Given the description of an element on the screen output the (x, y) to click on. 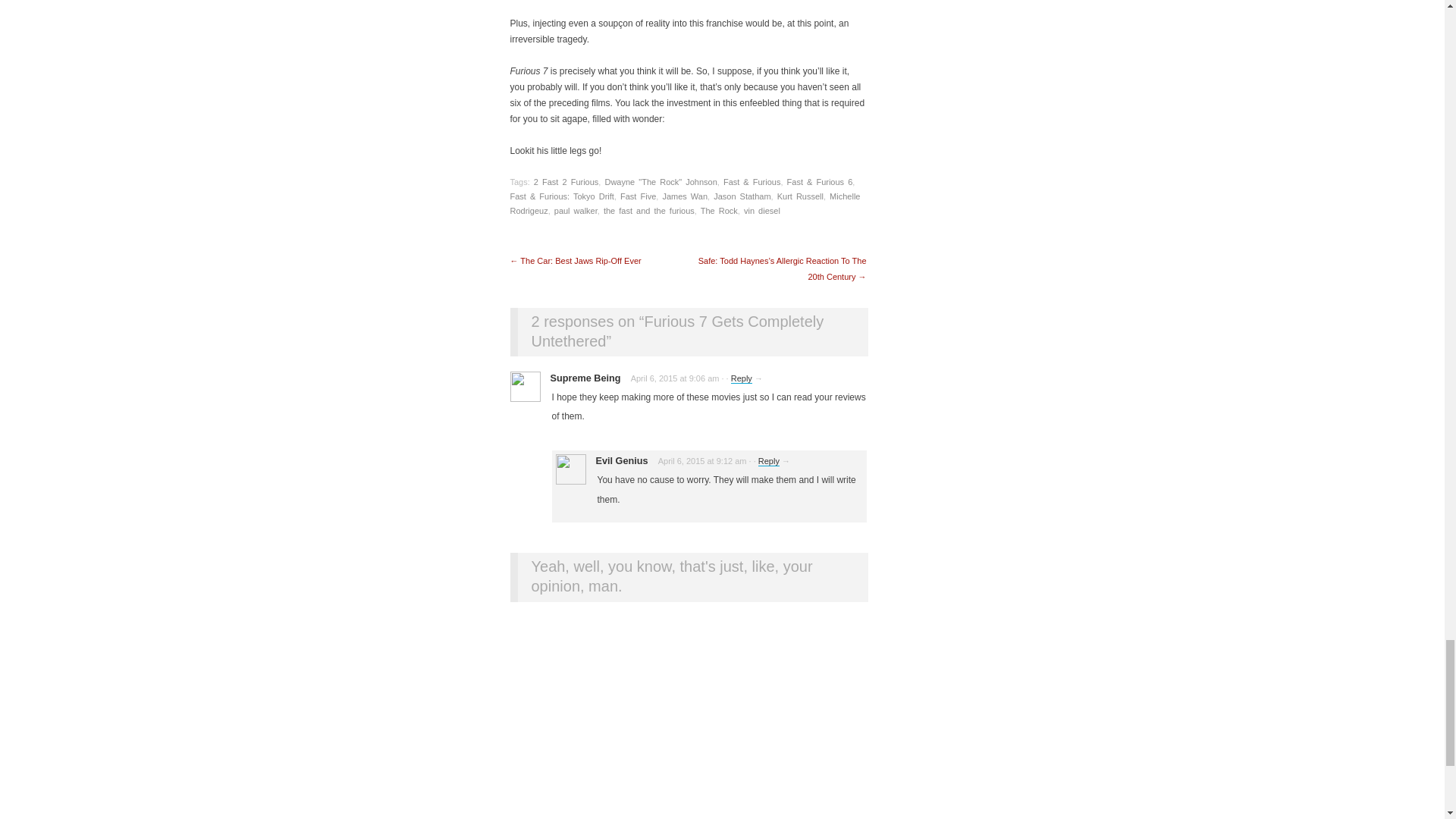
Fast Five (638, 195)
James Wan (684, 195)
Comment Form (687, 718)
Dwayne "The Rock" Johnson (660, 181)
2 Fast 2 Furious (566, 181)
